Given the description of an element on the screen output the (x, y) to click on. 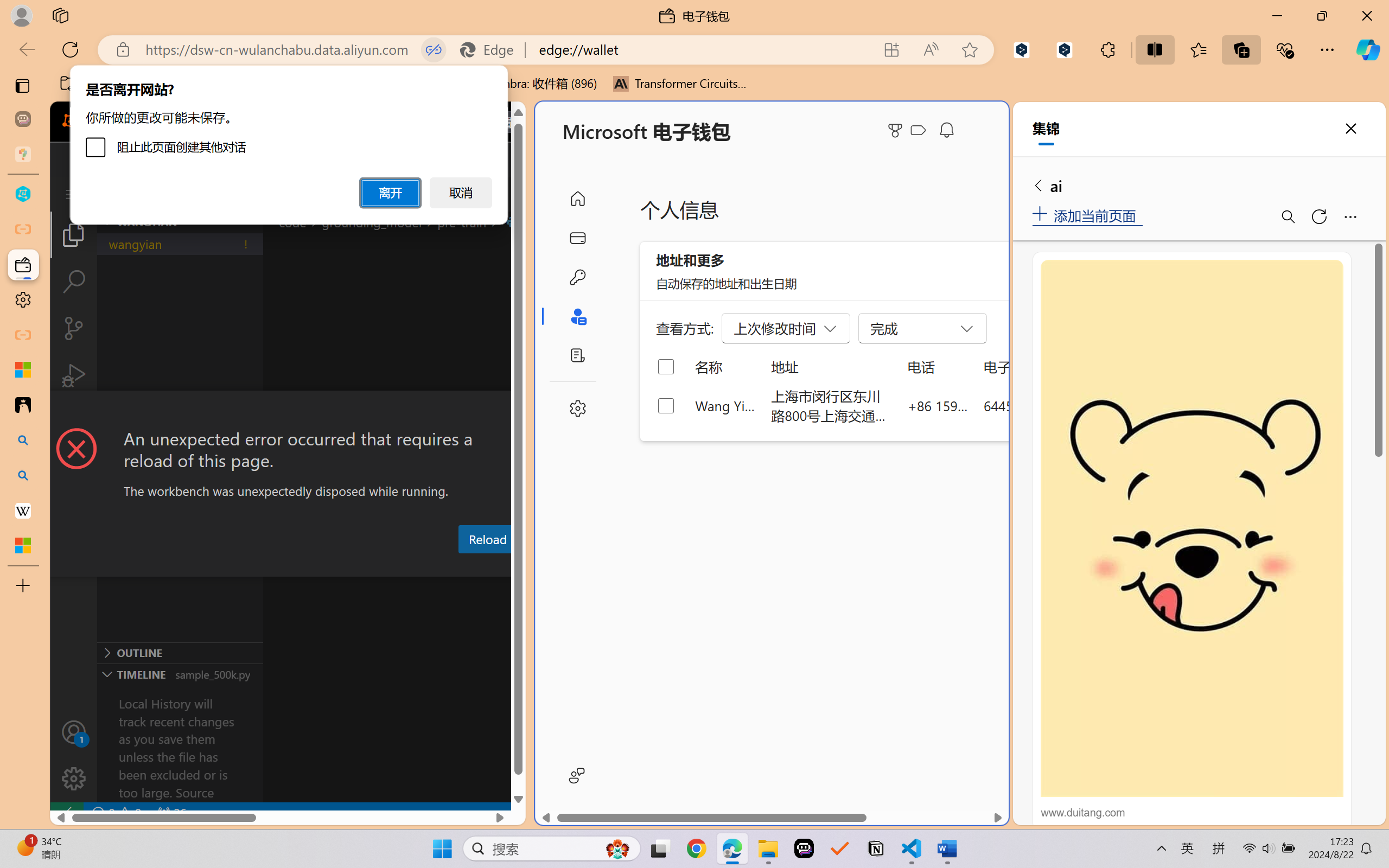
Microsoft Cashback (920, 130)
Timeline Section (179, 673)
Accounts - Sign in requested (73, 732)
